Given the description of an element on the screen output the (x, y) to click on. 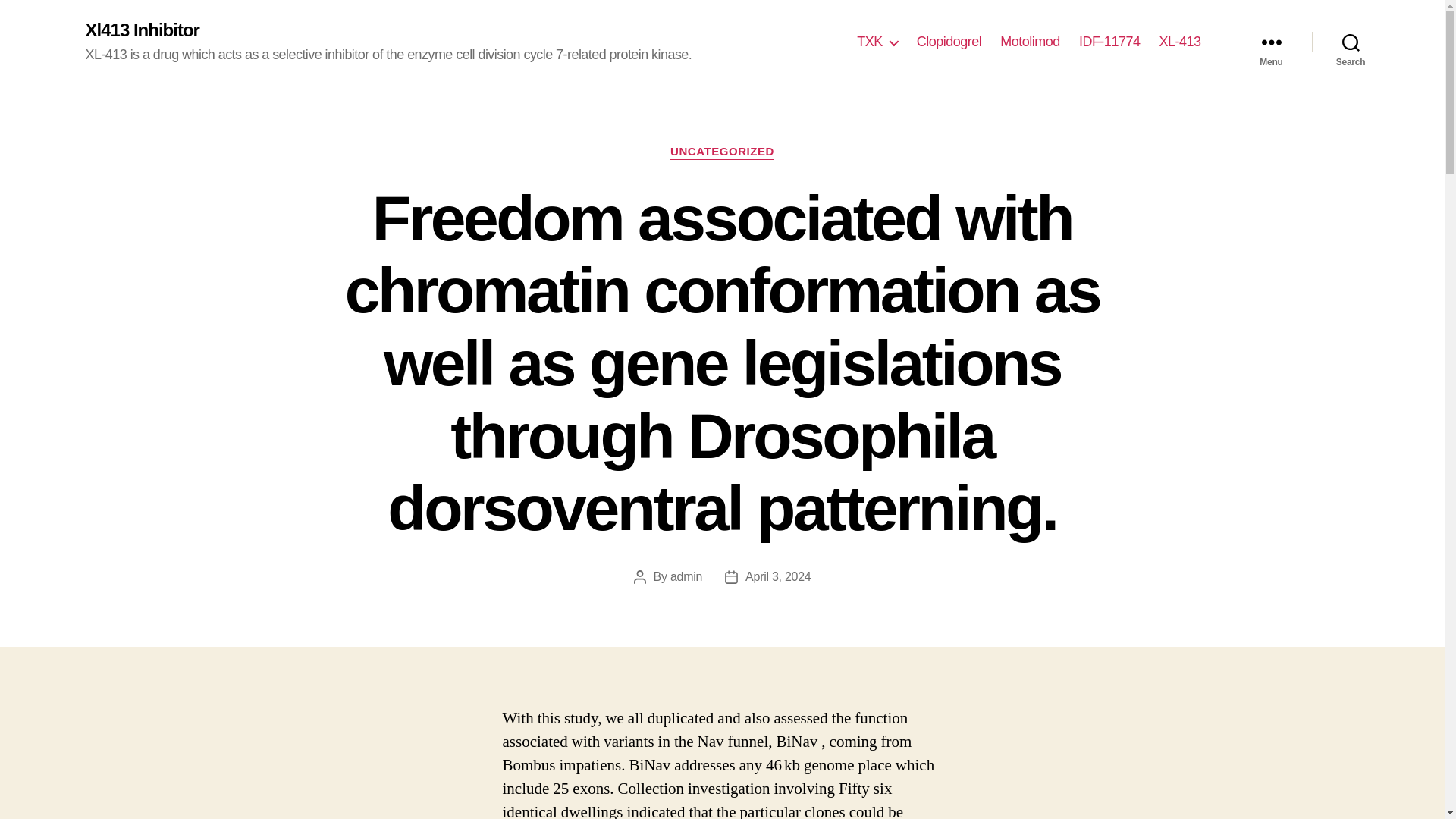
Menu (1271, 41)
Xl413 Inhibitor (141, 30)
IDF-11774 (1109, 42)
Motolimod (1029, 42)
Clopidogrel (949, 42)
XL-413 (1178, 42)
Search (1350, 41)
TXK (877, 42)
